Given the description of an element on the screen output the (x, y) to click on. 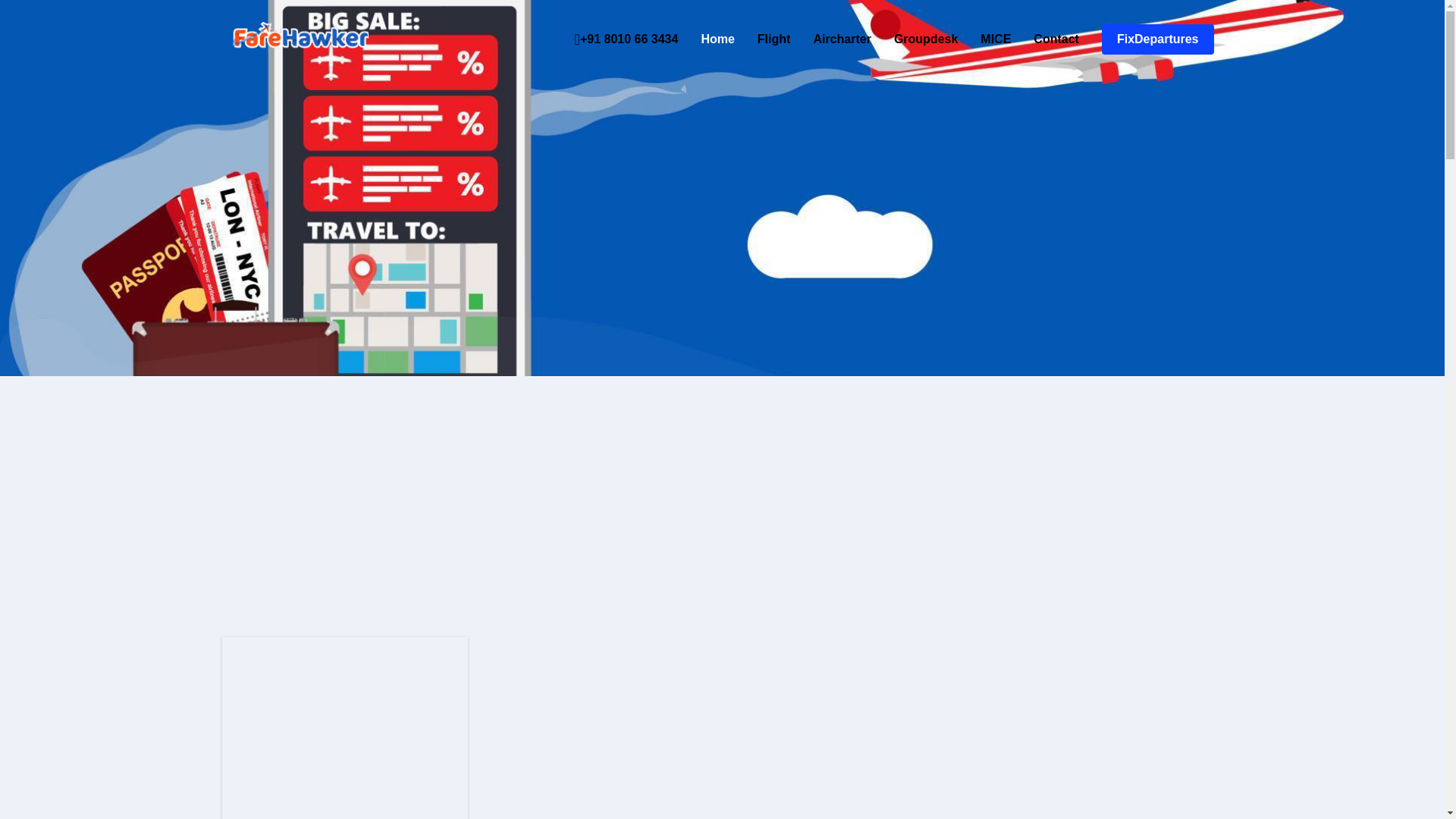
FixDepartures (1158, 39)
Flight (762, 39)
Contact (1044, 39)
MICE (984, 39)
Home (705, 39)
Groupdesk (914, 39)
Aircharter (830, 39)
